Given the description of an element on the screen output the (x, y) to click on. 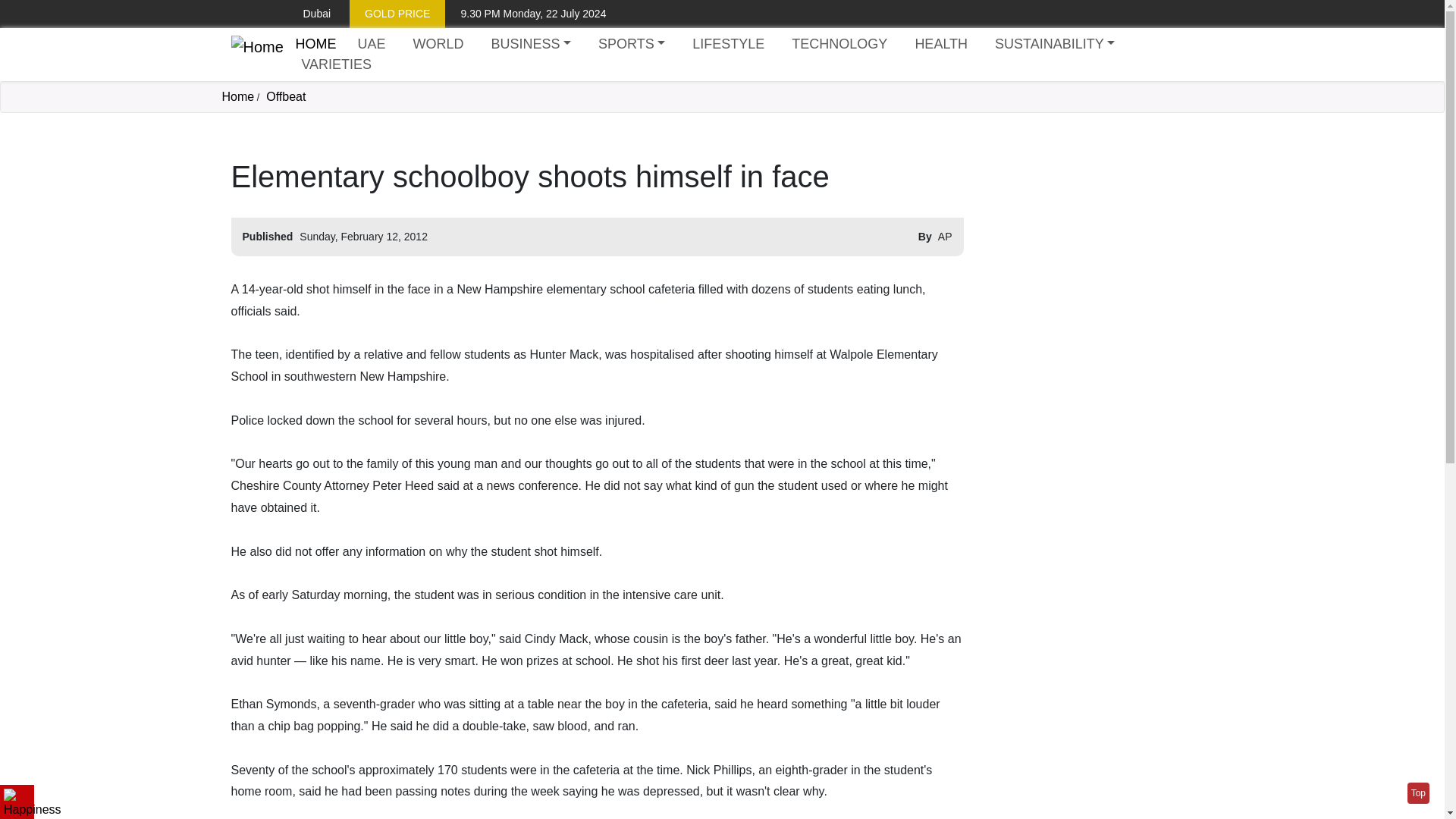
Home (237, 96)
Home (256, 54)
UAE (370, 44)
Go to top (1418, 792)
SUSTAINABILITY (1054, 44)
GOLD PRICE (397, 13)
SPORTS (631, 44)
Home (315, 43)
LIFESTYLE (727, 44)
BUSINESS (530, 44)
HEALTH (941, 44)
TECHNOLOGY (839, 44)
Dubai (305, 13)
HOME (315, 43)
WORLD (437, 44)
